Given the description of an element on the screen output the (x, y) to click on. 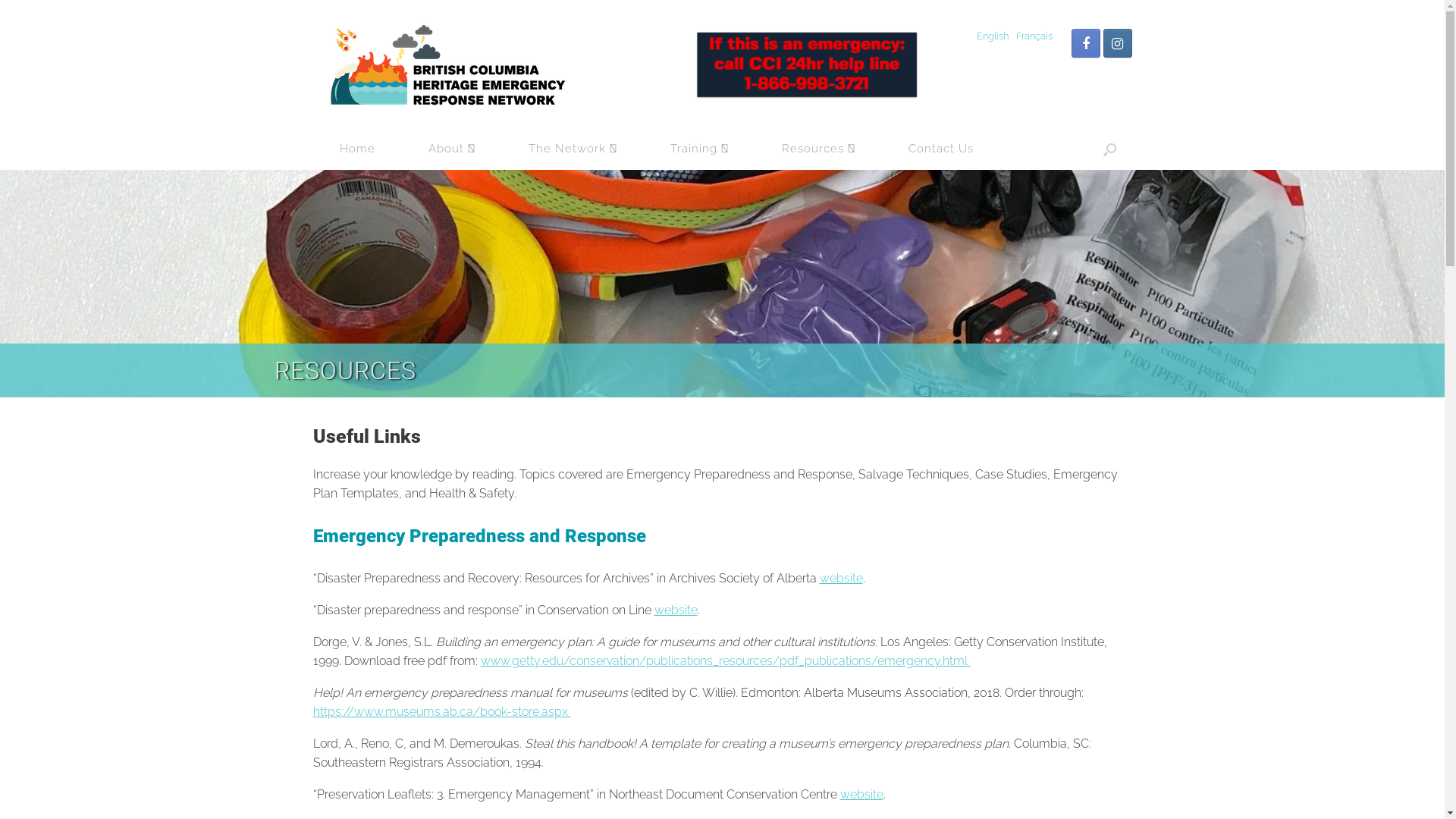
https://www.museums.ab.ca/book-store.aspx  Element type: text (441, 711)
website Element type: text (840, 578)
Contact Us Element type: text (940, 148)
website Element type: text (674, 609)
BC HERN Facebook Element type: hover (1084, 42)
website Element type: text (861, 794)
BC HERN Instagram Element type: hover (1116, 42)
Home Element type: text (356, 148)
BC HERN Element type: hover (444, 66)
English Element type: text (992, 35)
